Given the description of an element on the screen output the (x, y) to click on. 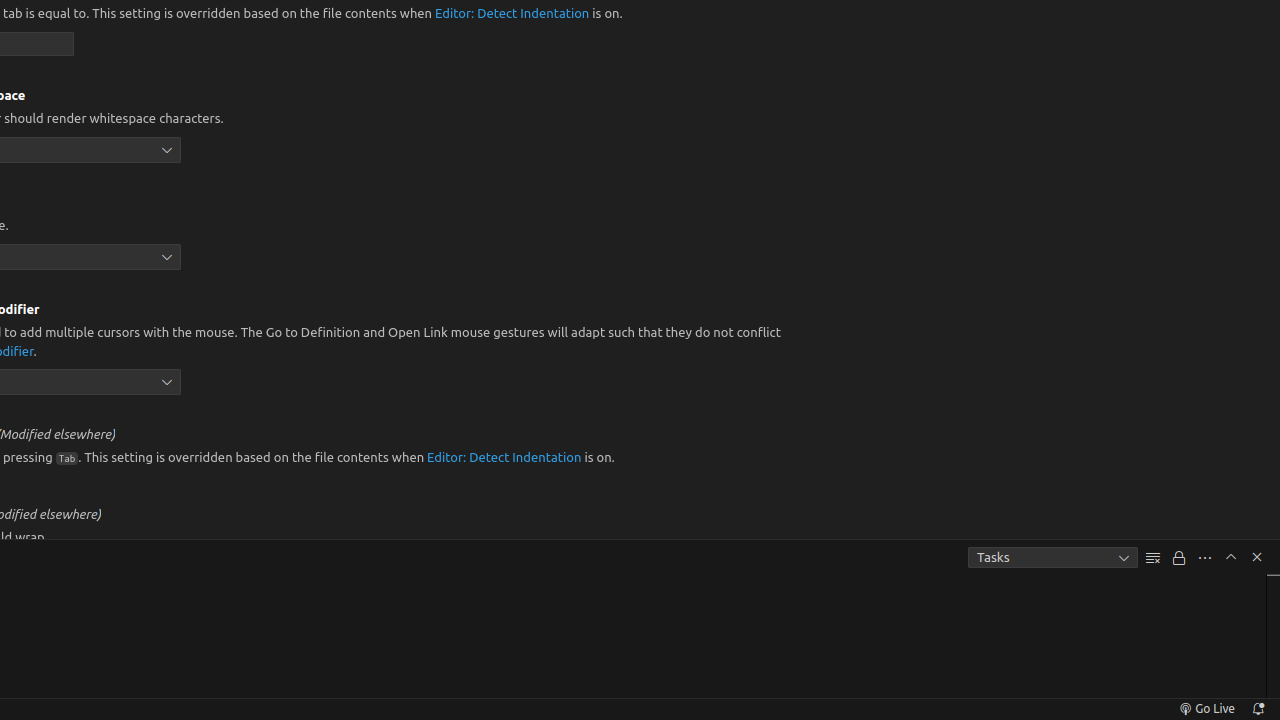
Editor: Detect Indentation Element type: link (512, 13)
Turn Auto Scrolling Off Element type: check-box (1179, 557)
Notifications Element type: push-button (1258, 709)
Tasks Element type: menu-item (1053, 557)
